Given the description of an element on the screen output the (x, y) to click on. 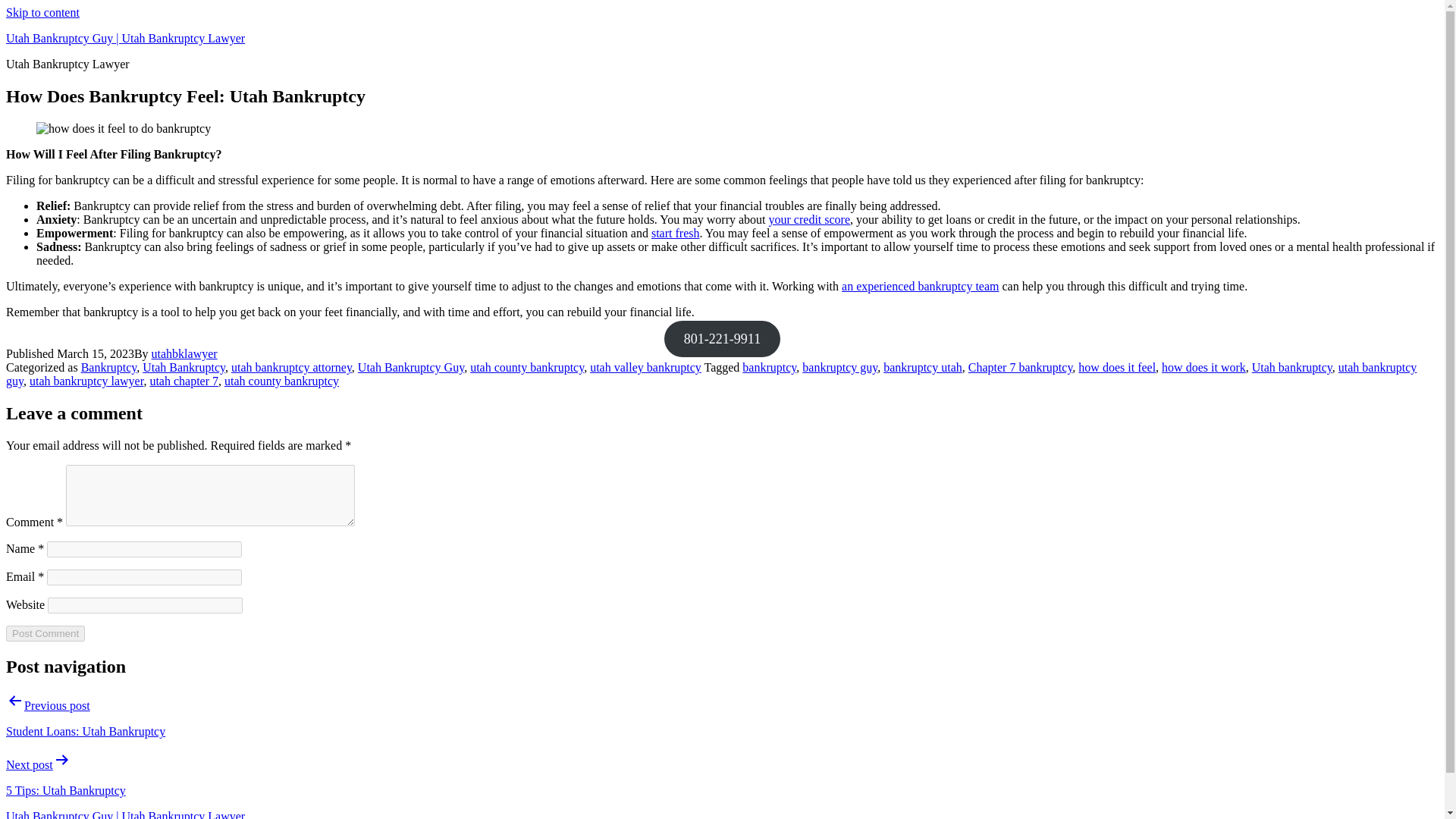
Utah bankruptcy (1292, 367)
Post Comment (44, 633)
bankruptcy utah (922, 367)
Skip to content (42, 11)
bankruptcy (769, 367)
Chapter 7 bankruptcy (1020, 367)
utah bankruptcy lawyer (85, 380)
801-221-9911 (721, 339)
bankruptcy guy (839, 367)
utah bankruptcy guy (710, 374)
start fresh (675, 232)
an experienced bankruptcy team (919, 286)
utah chapter 7 (183, 380)
Utah Bankruptcy Guy (411, 367)
how does it feel (1117, 367)
